Given the description of an element on the screen output the (x, y) to click on. 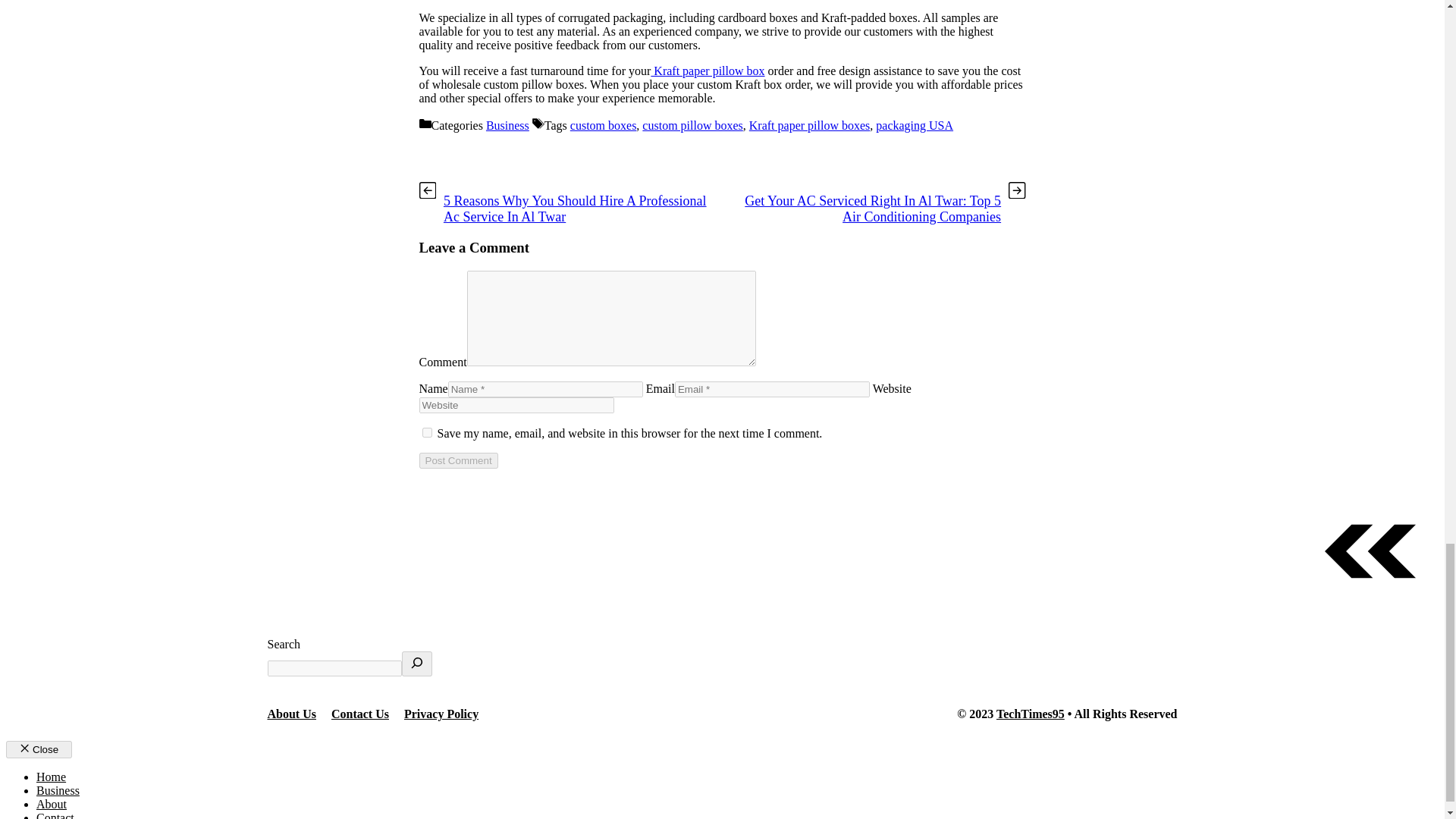
Close (38, 749)
custom pillow boxes (692, 124)
Kraft paper pillow boxes (809, 124)
Post Comment (458, 460)
Post Comment (458, 460)
Kraft paper pillow box (707, 70)
About Us (290, 713)
Contact Us (359, 713)
About (51, 803)
Privacy Policy (441, 713)
TechTimes95 (1029, 713)
packaging USA (914, 124)
custom boxes (603, 124)
